Given the description of an element on the screen output the (x, y) to click on. 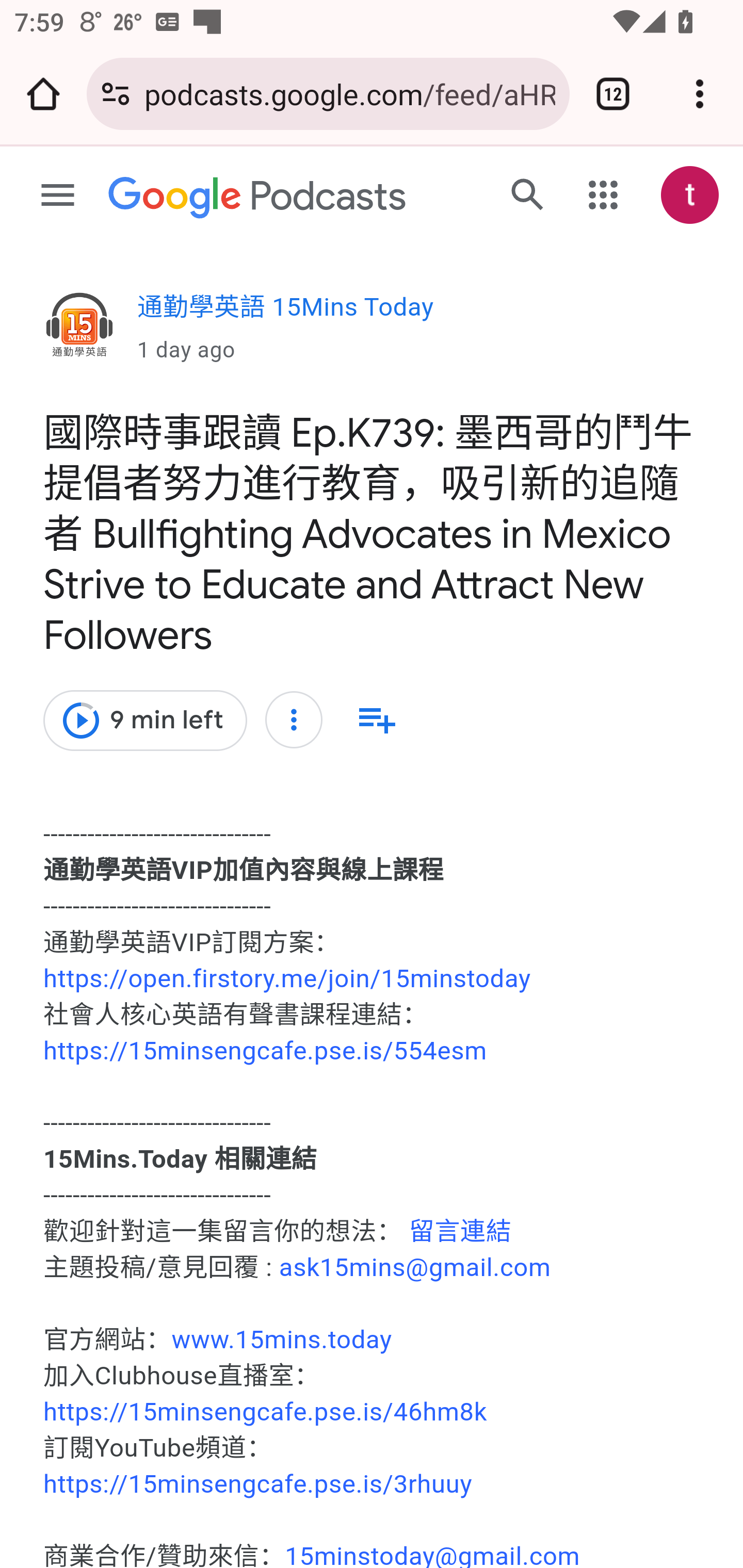
Open the home page (43, 93)
Connection is secure (115, 93)
Switch or close tabs (612, 93)
Customize and control Google Chrome (699, 93)
Main menu (58, 195)
Search (527, 194)
Google apps (603, 195)
Google Podcasts Podcasts (257, 198)
通勤學英語 15Mins Today (79, 327)
通勤學英語 15Mins Today (285, 312)
Add to queue (375, 719)
Play this episode (79, 721)
https://open.firstory.me/join/15minstoday (287, 979)
https://15minsengcafe.pse.is/554esm (265, 1051)
留言連結 (459, 1231)
ask15mins@gmail.com (414, 1267)
www.15mins.today (281, 1339)
https://15minsengcafe.pse.is/46hm8k (265, 1412)
https://15minsengcafe.pse.is/3rhuuy (258, 1484)
15minstoday@gmail.com (432, 1554)
